Given the description of an element on the screen output the (x, y) to click on. 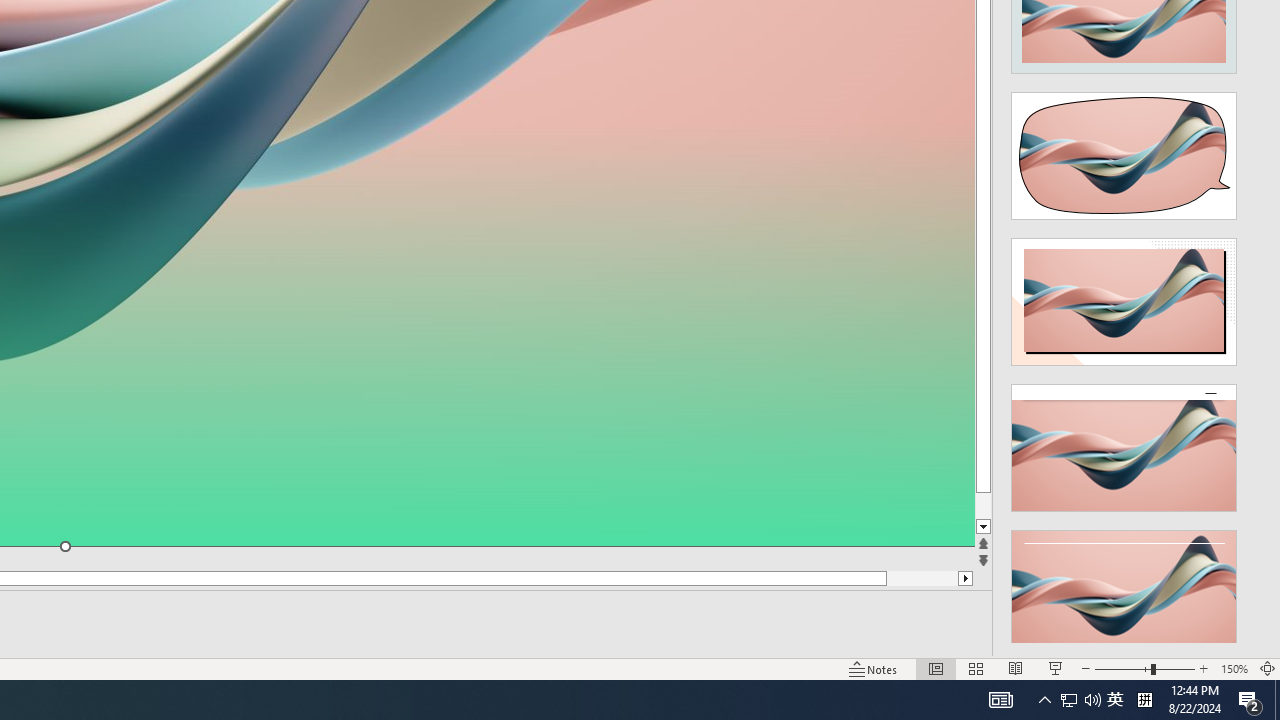
Action Center, 2 new notifications (1250, 699)
